Given the description of an element on the screen output the (x, y) to click on. 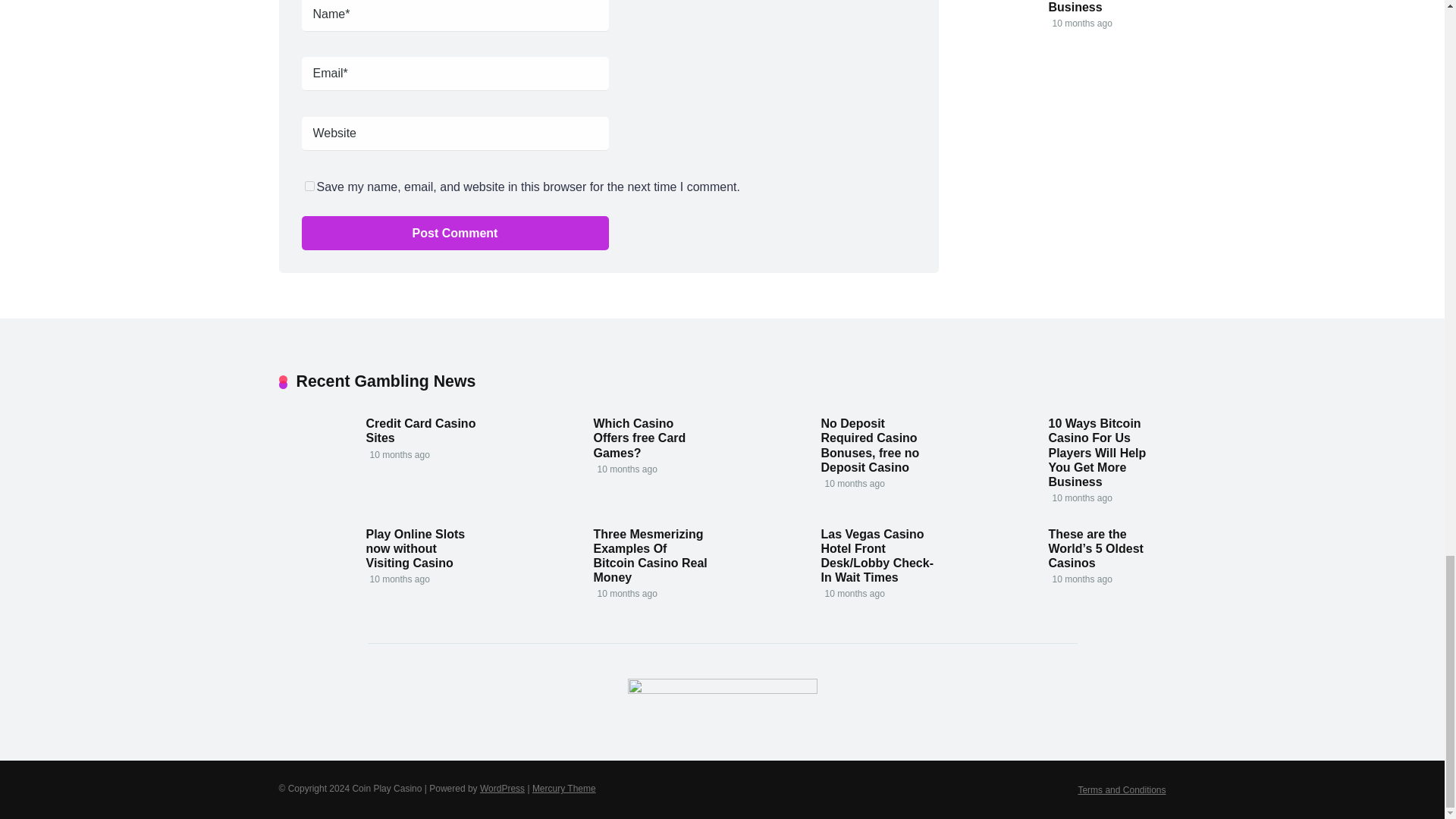
Post Comment (454, 233)
yes (309, 185)
Play Online Slots now without Visiting Casino (414, 548)
No Deposit Required Casino Bonuses, free no Deposit Casino (869, 445)
Post Comment (454, 233)
Which Casino Offers free Card Games? (638, 437)
Three Mesmerizing Examples Of Bitcoin Casino Real Money (649, 555)
Credit Card Casino Sites (420, 430)
